Given the description of an element on the screen output the (x, y) to click on. 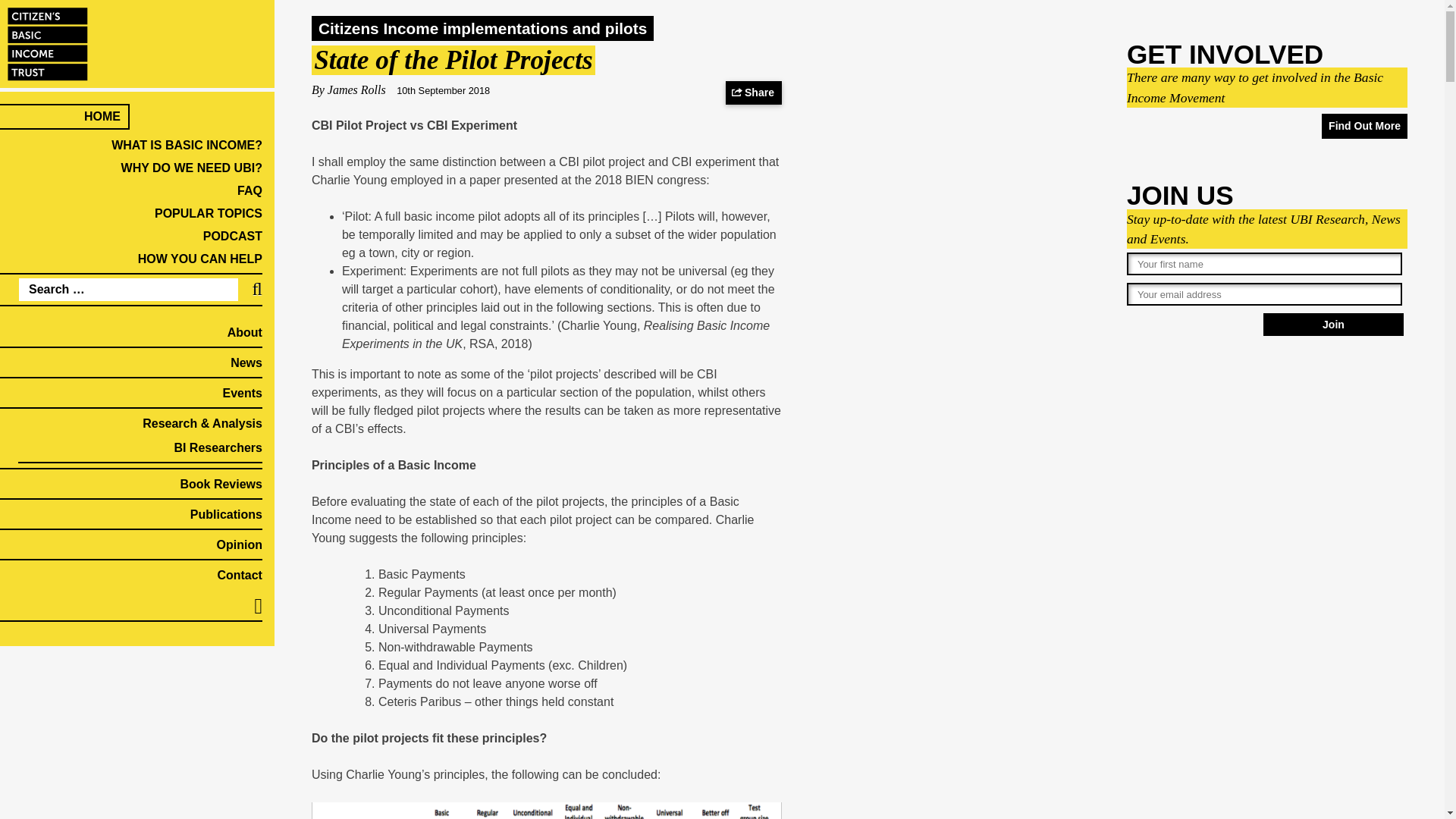
Publications (226, 513)
Search for: (128, 289)
Contact (239, 574)
PODCAST (232, 236)
About (244, 332)
News (246, 362)
WHAT IS BASIC INCOME? (187, 144)
HOME (102, 115)
FAQ (249, 190)
WHY DO WE NEED UBI? (191, 167)
POPULAR TOPICS (208, 213)
Book Reviews (220, 483)
Opinion (239, 544)
Join (1333, 323)
HOW YOU CAN HELP (200, 258)
